Given the description of an element on the screen output the (x, y) to click on. 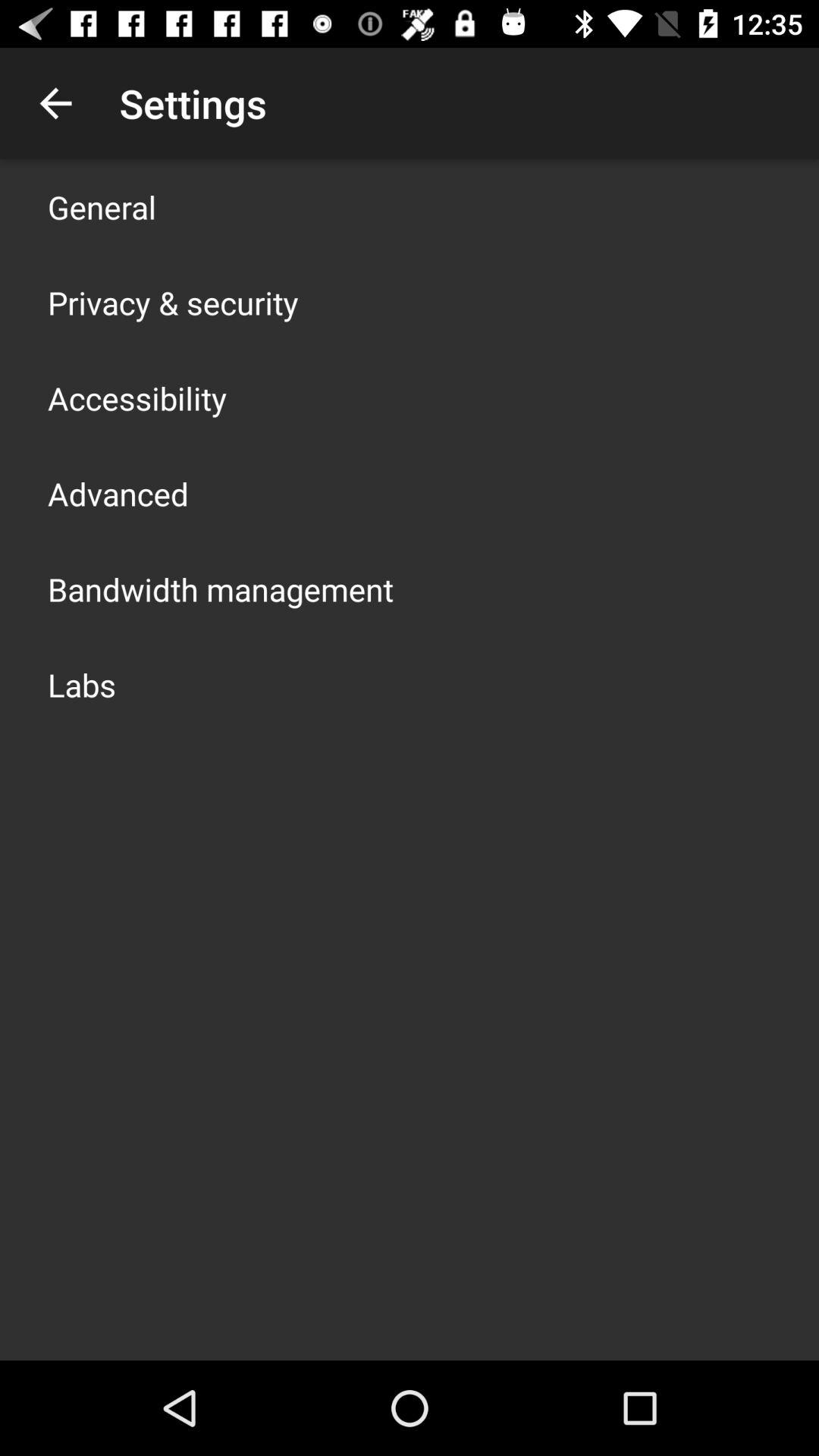
scroll to advanced icon (117, 493)
